Given the description of an element on the screen output the (x, y) to click on. 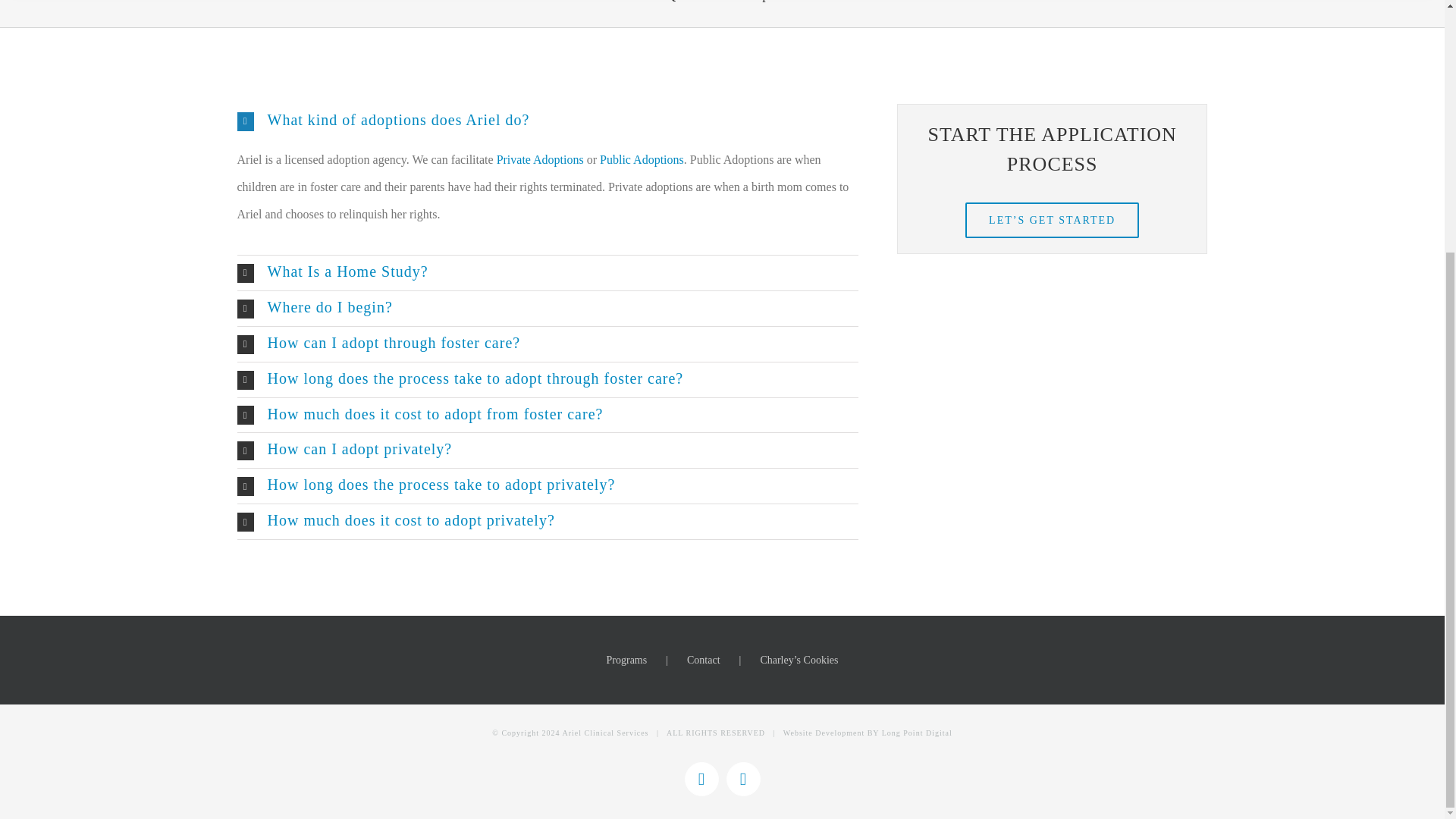
X (743, 779)
Facebook (700, 779)
